Given the description of an element on the screen output the (x, y) to click on. 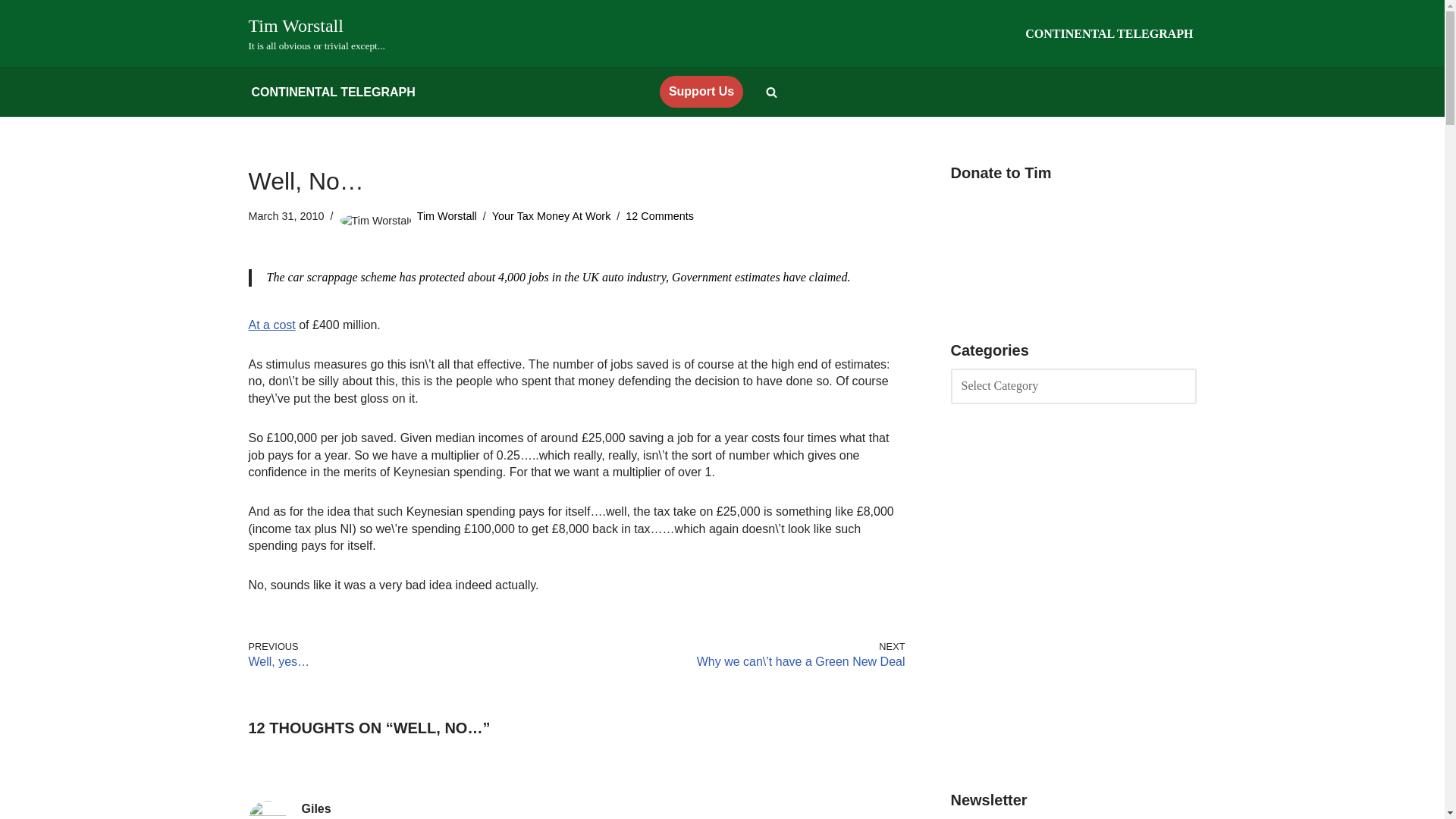
Giles (316, 808)
CONTINENTAL TELEGRAPH (332, 91)
Advertisement (1073, 596)
Posts by Tim Worstall (446, 215)
Your Tax Money At Work (551, 215)
Tim Worstall (446, 215)
12 Comments (660, 215)
Skip to content (11, 31)
Support Us (700, 91)
CONTINENTAL TELEGRAPH (316, 33)
At a cost (1108, 33)
March 31, 2010 at 9:41 am (271, 324)
